Given the description of an element on the screen output the (x, y) to click on. 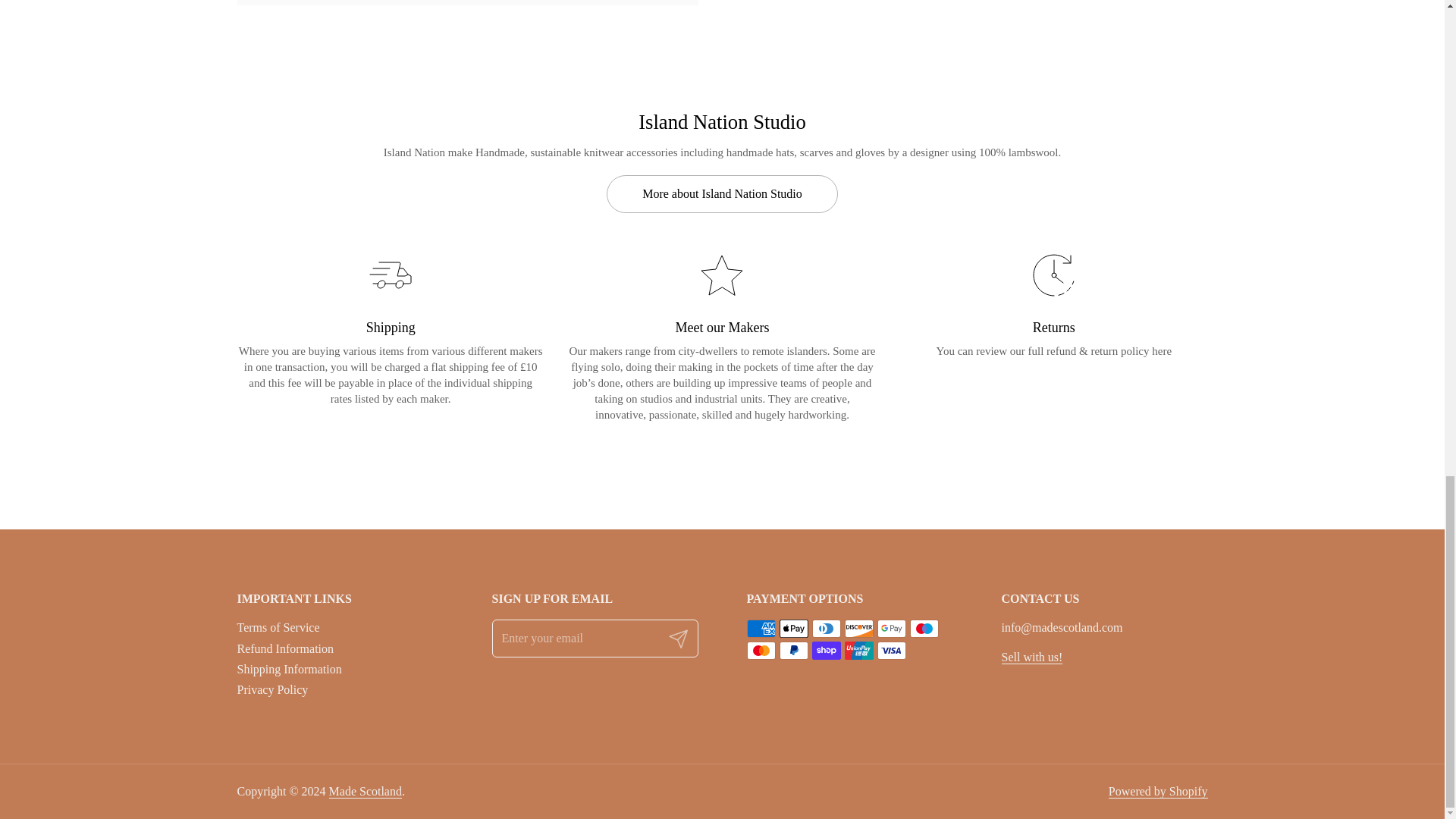
Returns (1053, 304)
Meet our Makers (722, 336)
More about Island Nation Studio (722, 193)
Contact Us (1031, 657)
Shipping (389, 328)
